Given the description of an element on the screen output the (x, y) to click on. 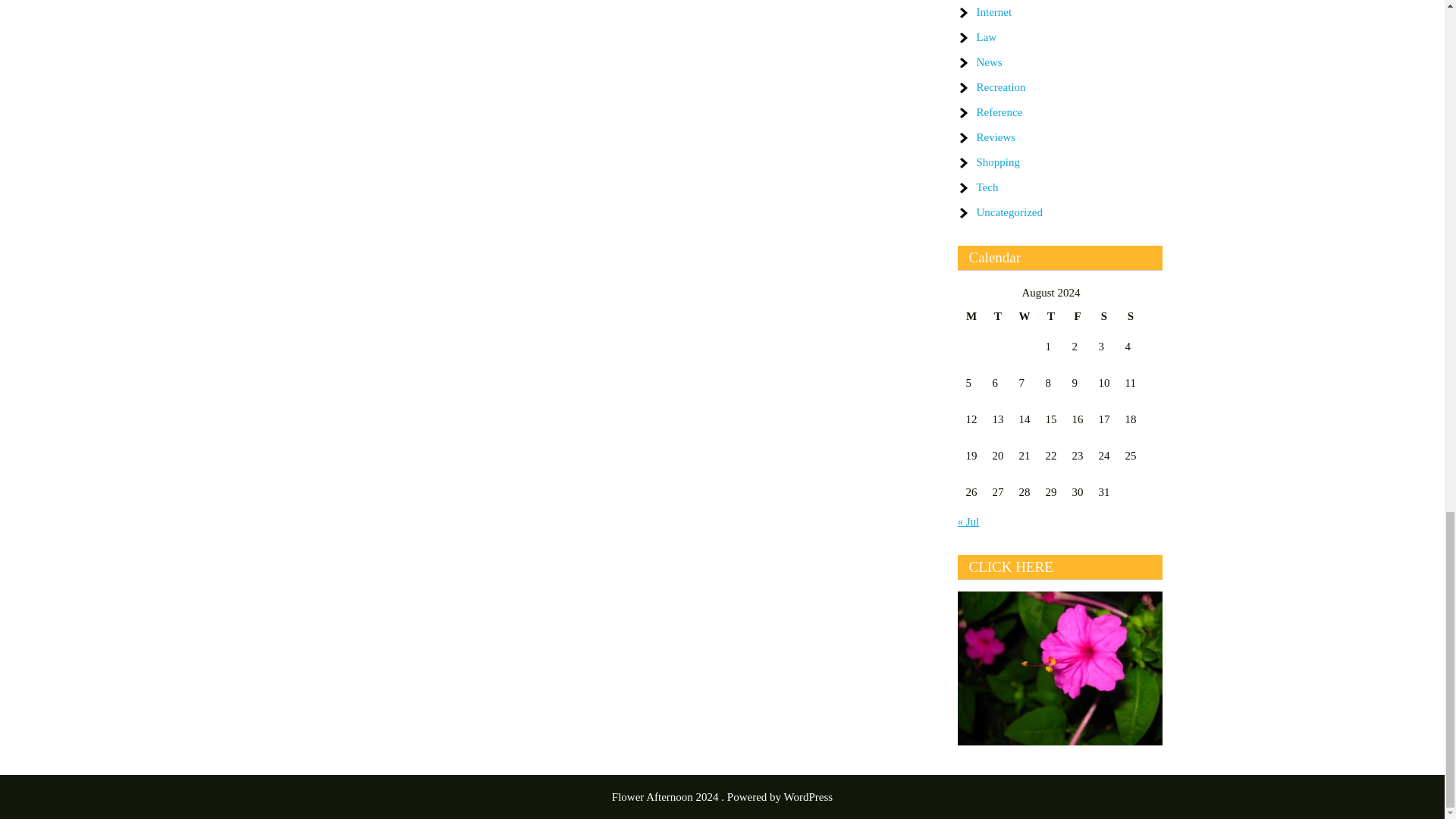
Monday (971, 315)
Internet (993, 11)
Thursday (1051, 315)
Tuesday (997, 315)
Saturday (1104, 315)
Sunday (1130, 315)
Friday (1076, 315)
Law (986, 37)
Wednesday (1023, 315)
